Given the description of an element on the screen output the (x, y) to click on. 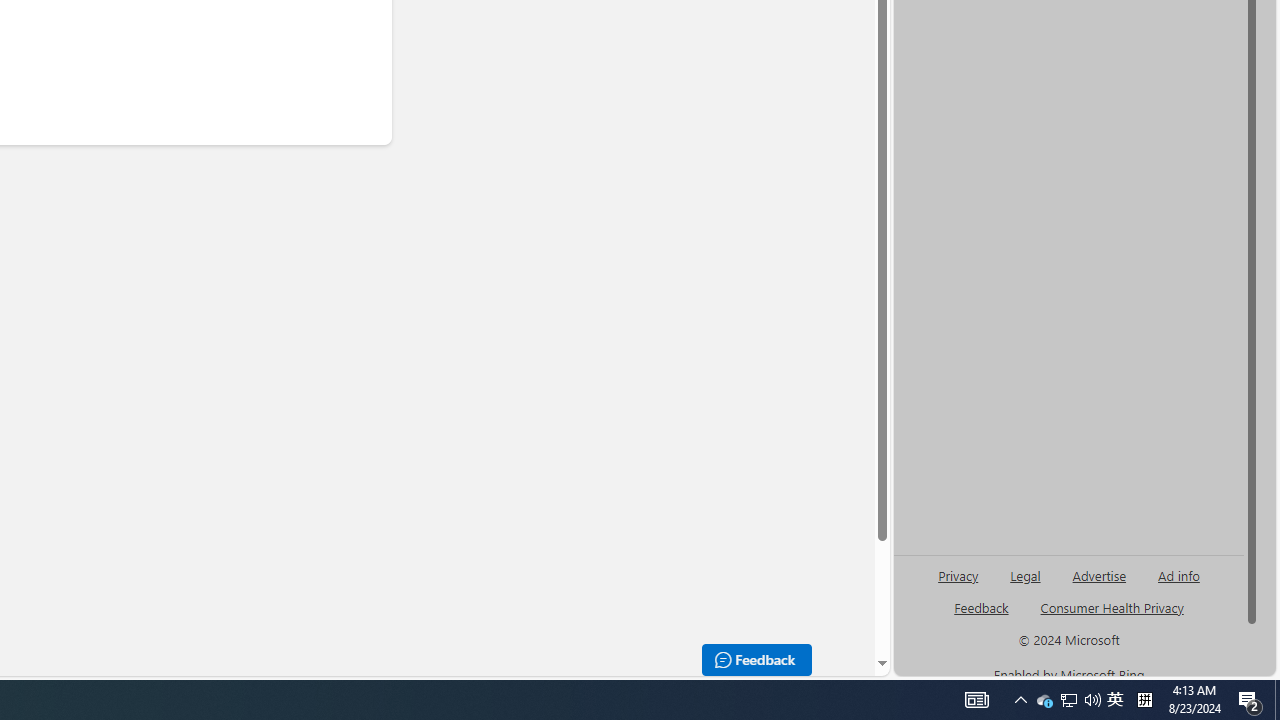
AutomationID: sb_feedback (980, 607)
AutomationID: genId96 (981, 615)
